Given the description of an element on the screen output the (x, y) to click on. 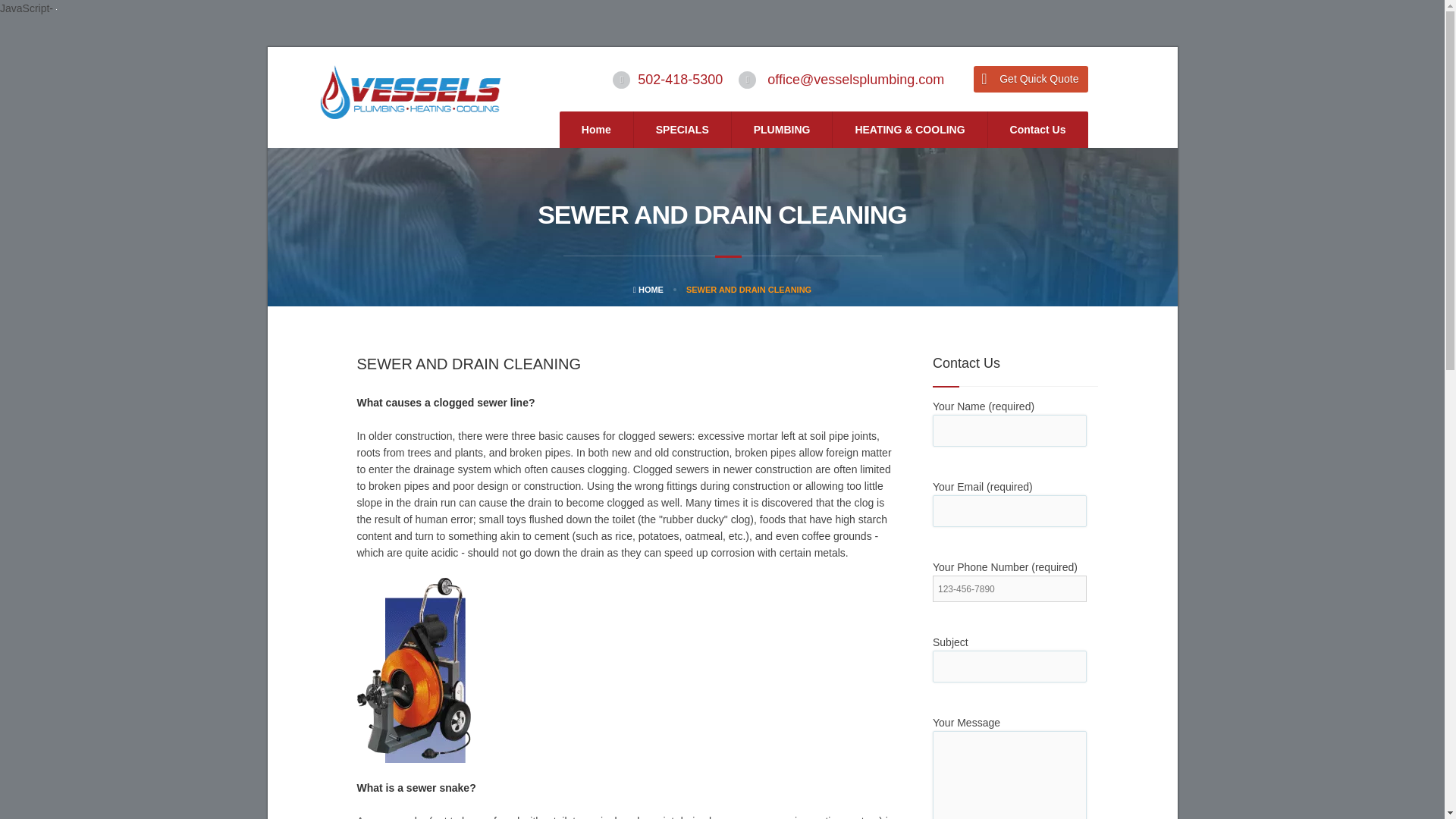
Get Quick Quote (1030, 79)
SPECIALS (681, 129)
HOME (648, 289)
Home (596, 129)
Contact Us (1037, 129)
PLUMBING (782, 129)
